Given the description of an element on the screen output the (x, y) to click on. 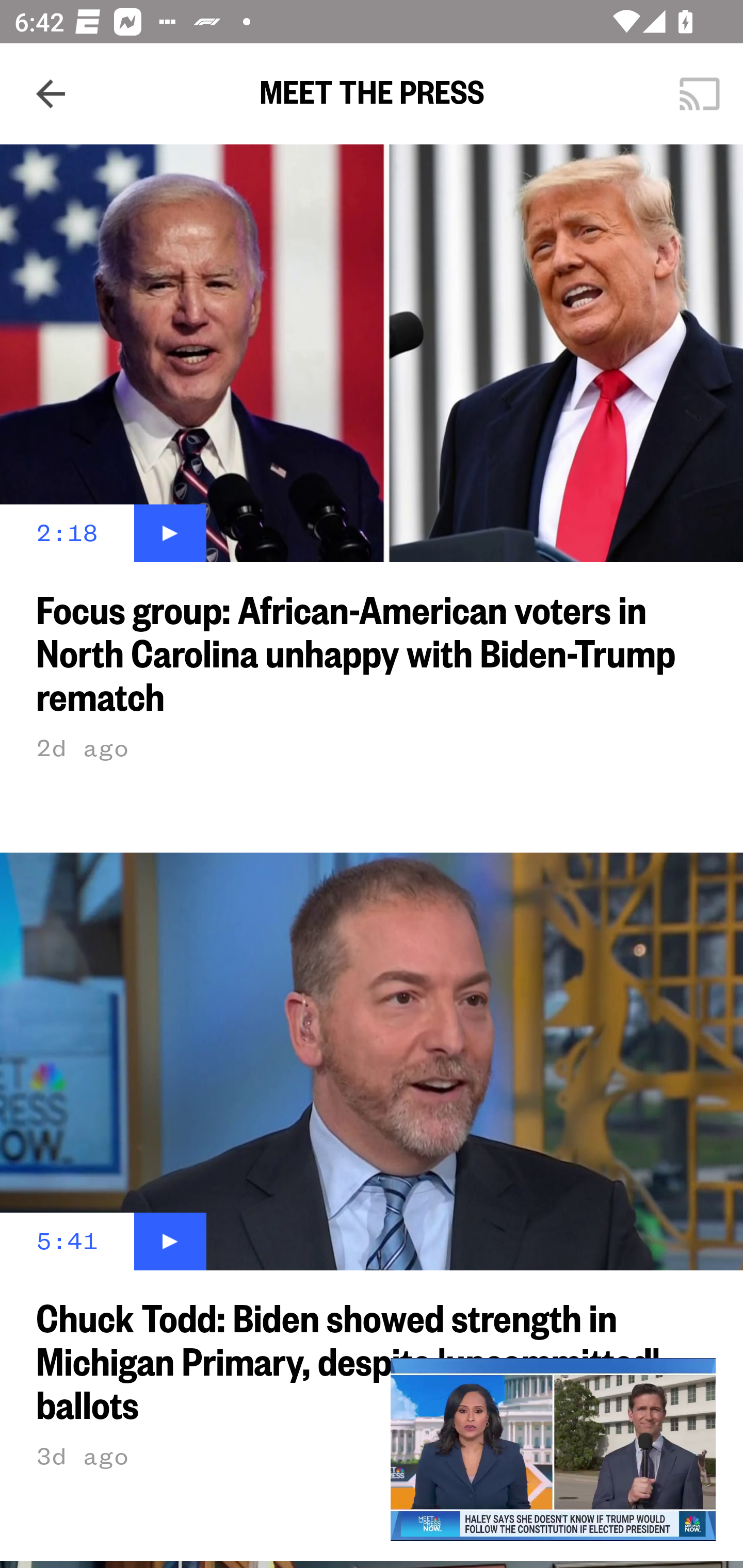
Navigate up (50, 93)
Cast. Disconnected (699, 93)
